Given the description of an element on the screen output the (x, y) to click on. 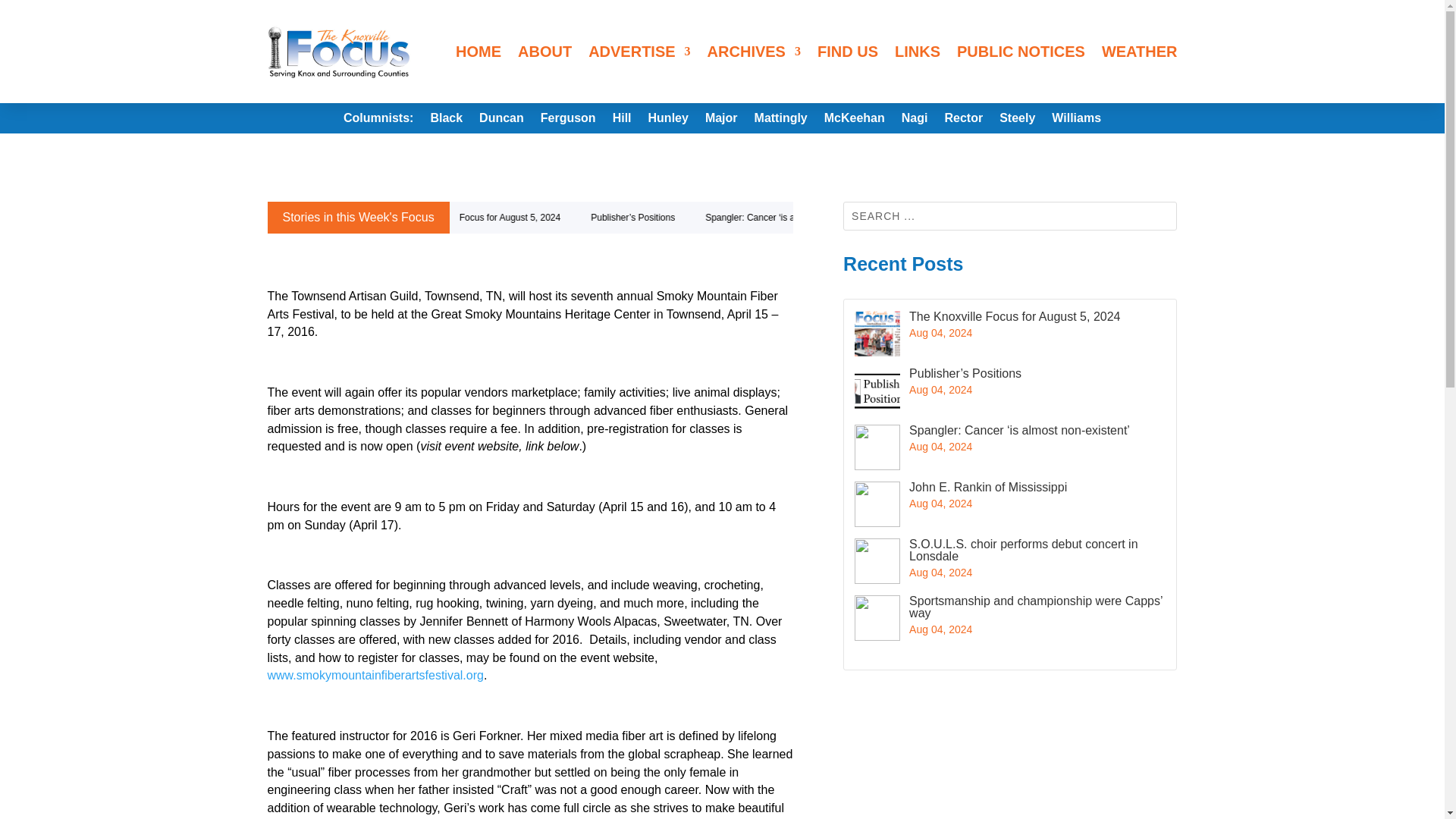
ARCHIVES (753, 51)
Black (446, 121)
Ferguson (567, 121)
Duncan (501, 121)
Hill (621, 121)
Hunley (667, 121)
FIND US (846, 51)
Mattingly (781, 121)
ABOUT (545, 51)
Major (721, 121)
